Given the description of an element on the screen output the (x, y) to click on. 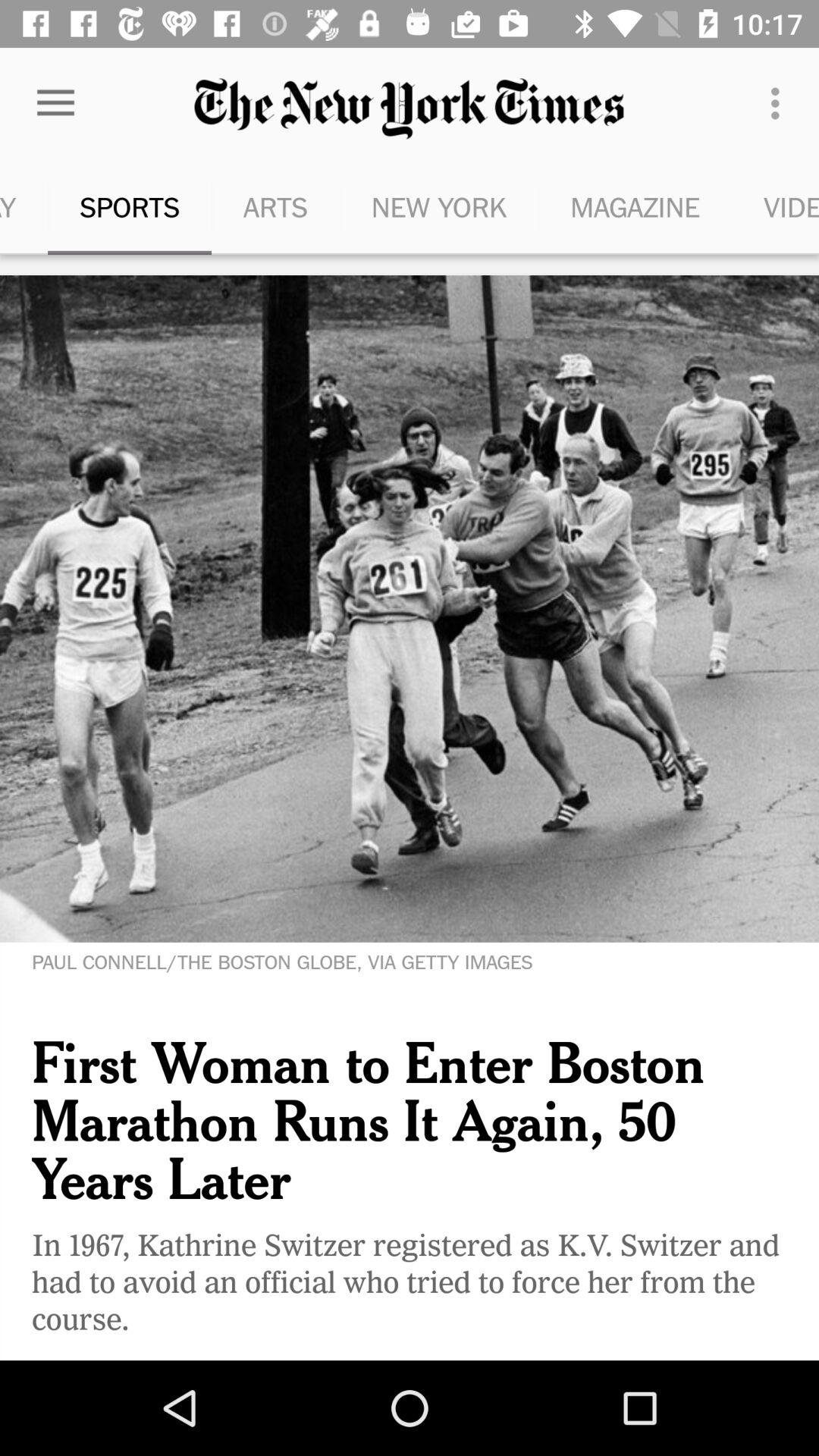
press icon above business day (55, 103)
